Given the description of an element on the screen output the (x, y) to click on. 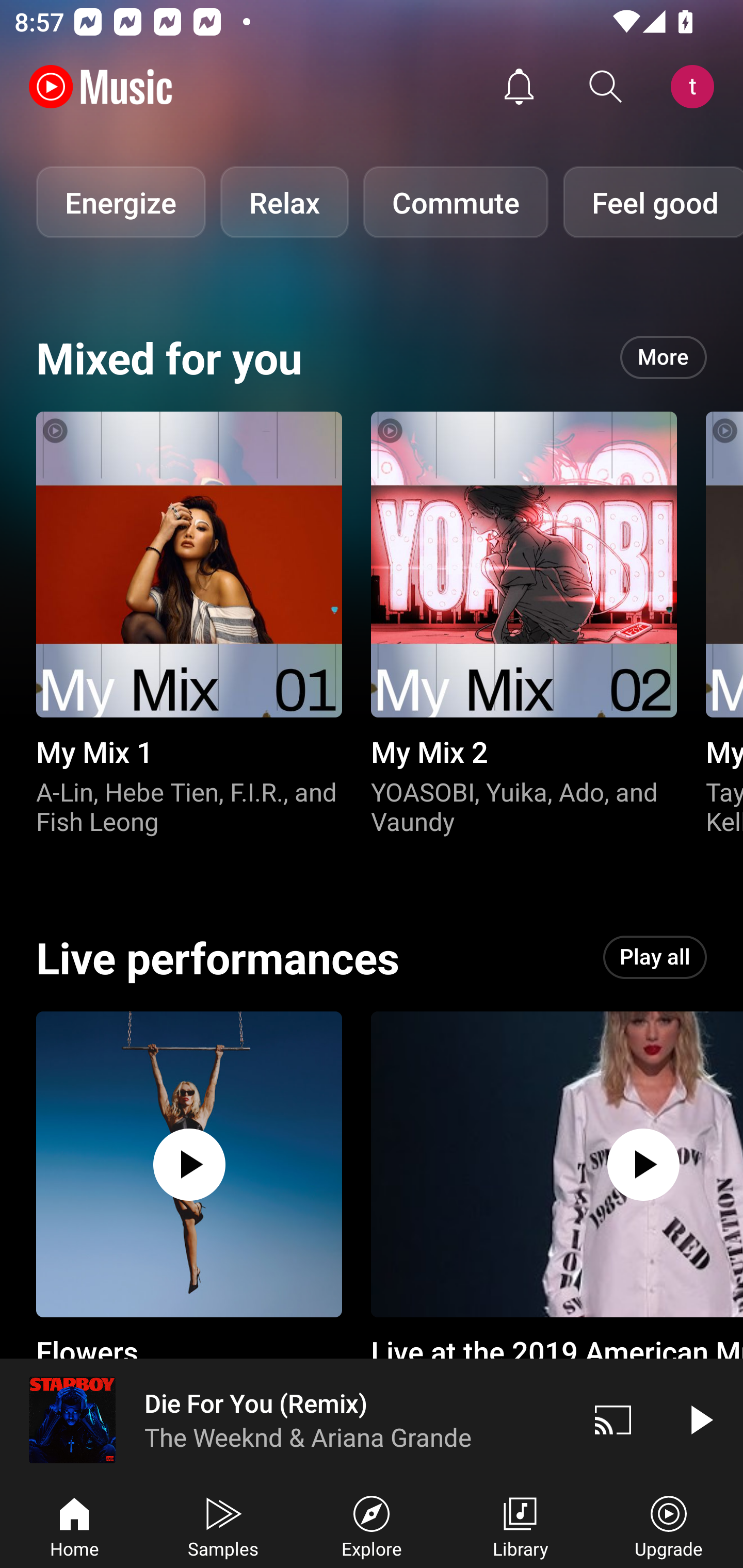
Activity feed (518, 86)
Search (605, 86)
Account (696, 86)
Die For You (Remix) The Weeknd & Ariana Grande (284, 1419)
Cast. Disconnected (612, 1419)
Play video (699, 1419)
Home (74, 1524)
Samples (222, 1524)
Explore (371, 1524)
Library (519, 1524)
Upgrade (668, 1524)
